Given the description of an element on the screen output the (x, y) to click on. 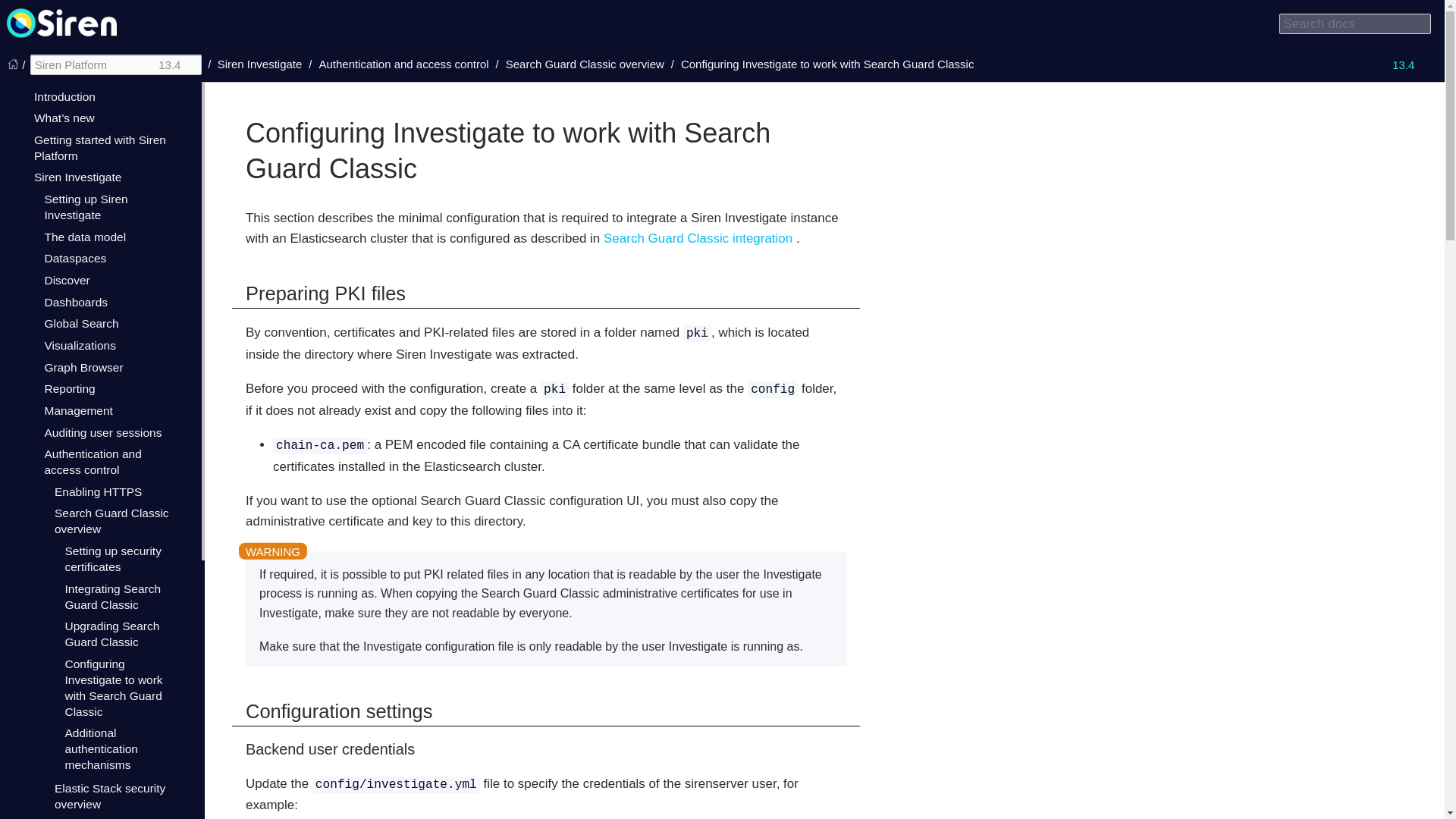
Setting up Siren Investigate (85, 206)
Siren Investigate (76, 176)
Warning (272, 551)
Show other versions of page (1410, 64)
Introduction (64, 96)
The data model (84, 236)
Getting started with Siren Platform (99, 147)
